Given the description of an element on the screen output the (x, y) to click on. 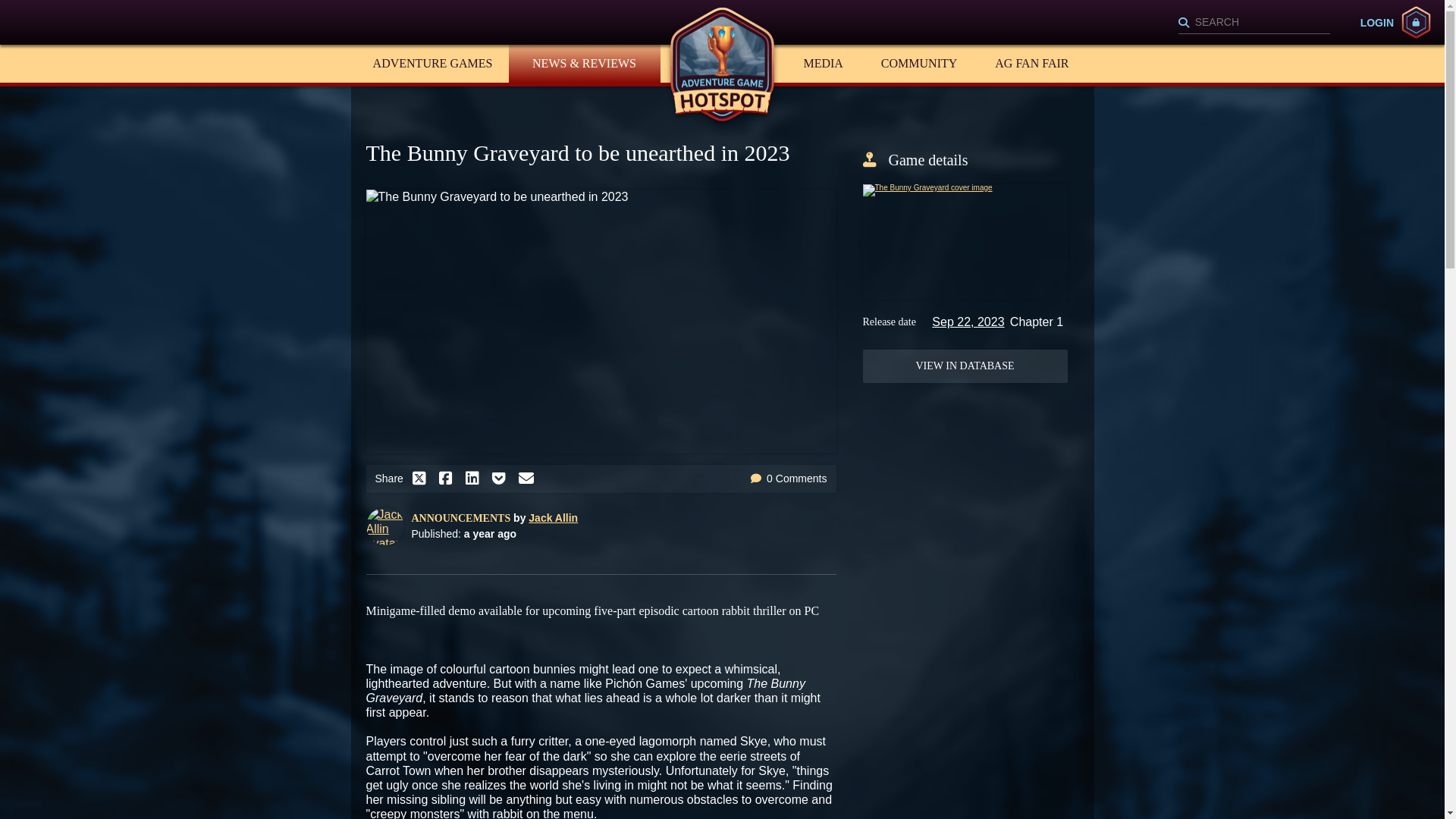
Save to Pocket (502, 478)
The Bunny Graveyard cover image (965, 241)
ADVENTURE GAMES (432, 63)
COMMUNITY (918, 63)
Share on Linkedin (475, 478)
AG FAN FAIR (1031, 63)
Share via email (529, 478)
MEDIA (822, 63)
LOGIN (1395, 21)
Adventure Game Hotspot (721, 64)
